Given the description of an element on the screen output the (x, y) to click on. 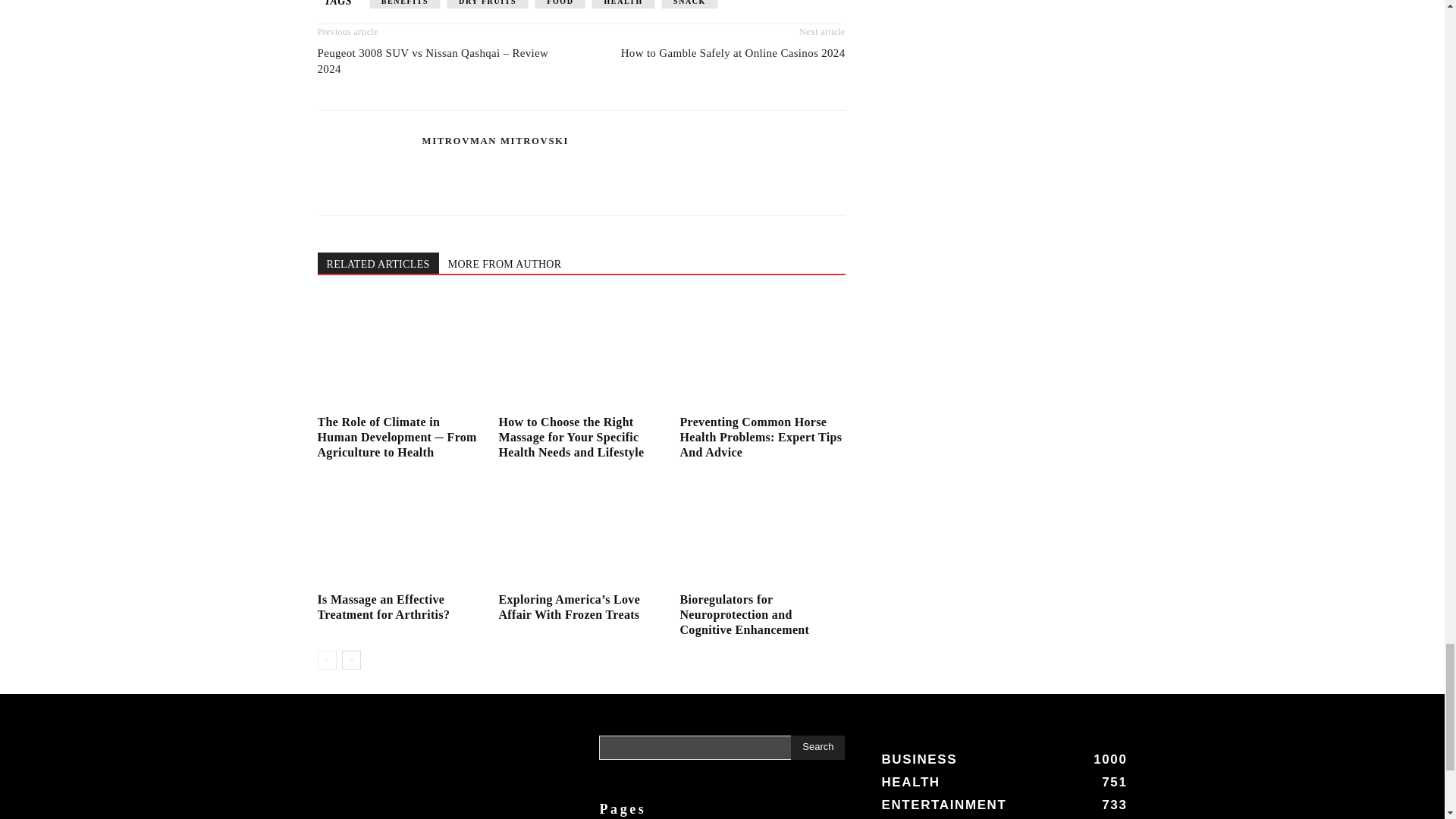
Search (817, 747)
